Given the description of an element on the screen output the (x, y) to click on. 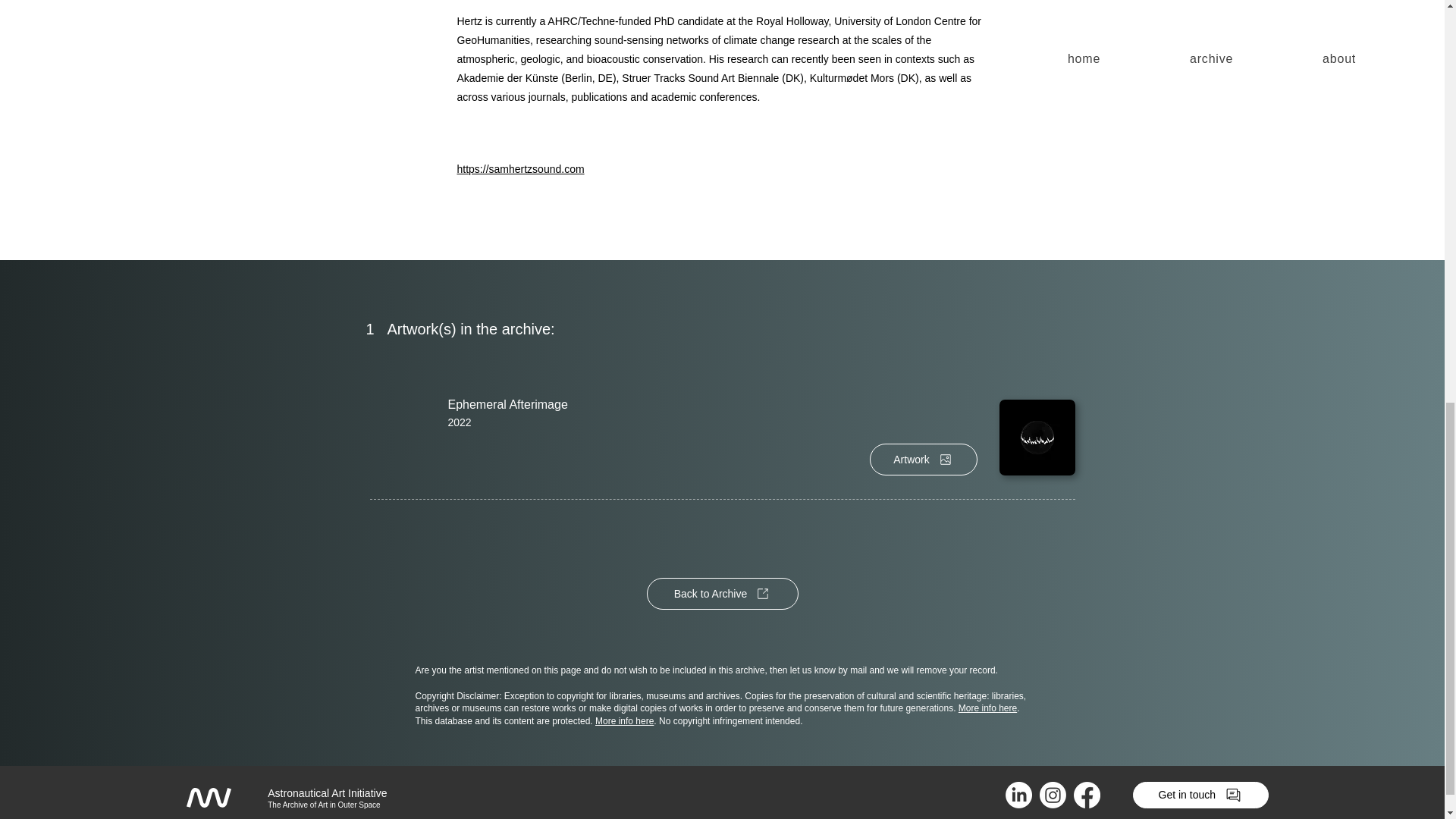
Back to Archive (721, 593)
Get in touch (1200, 795)
More info here (624, 720)
Artwork (922, 459)
More info here (987, 707)
